Given the description of an element on the screen output the (x, y) to click on. 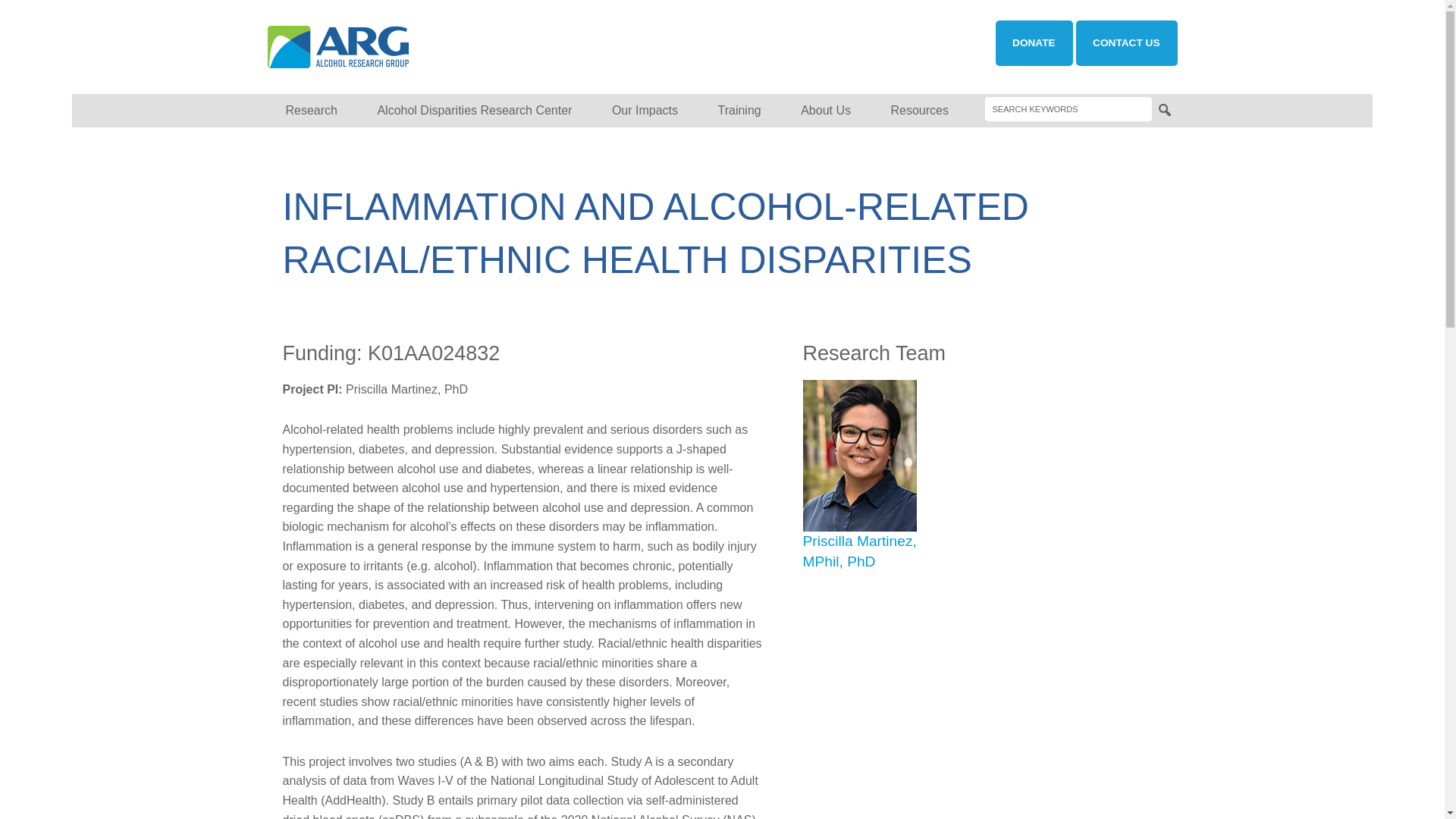
DONATE (1034, 43)
About Us (826, 110)
Training (738, 110)
Alcohol Disparities Research Center (473, 110)
Research (310, 110)
Our Impacts (644, 110)
CONTACT US (1125, 43)
Alcohol Research Group (392, 47)
